Given the description of an element on the screen output the (x, y) to click on. 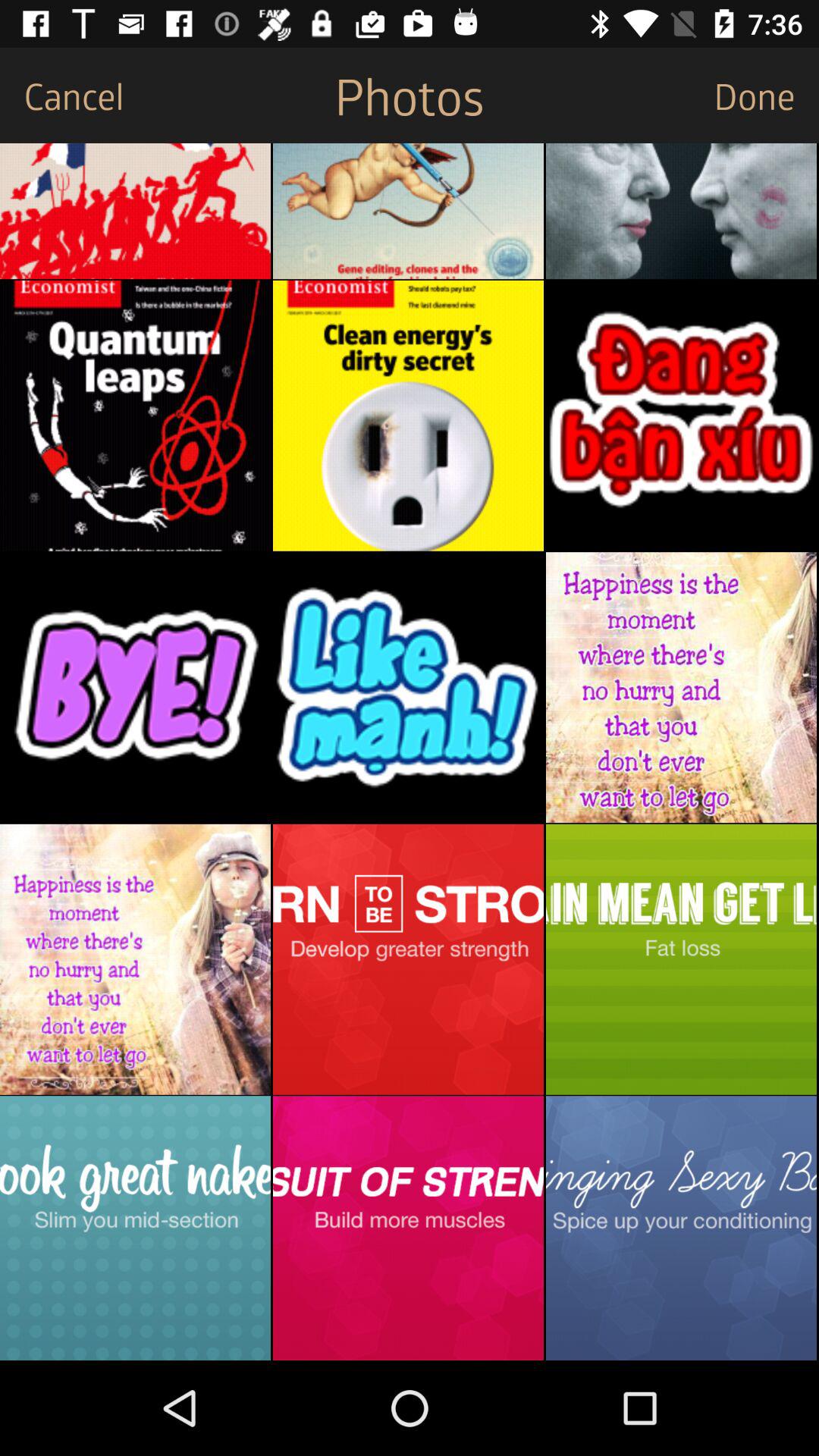
click image (681, 211)
